Given the description of an element on the screen output the (x, y) to click on. 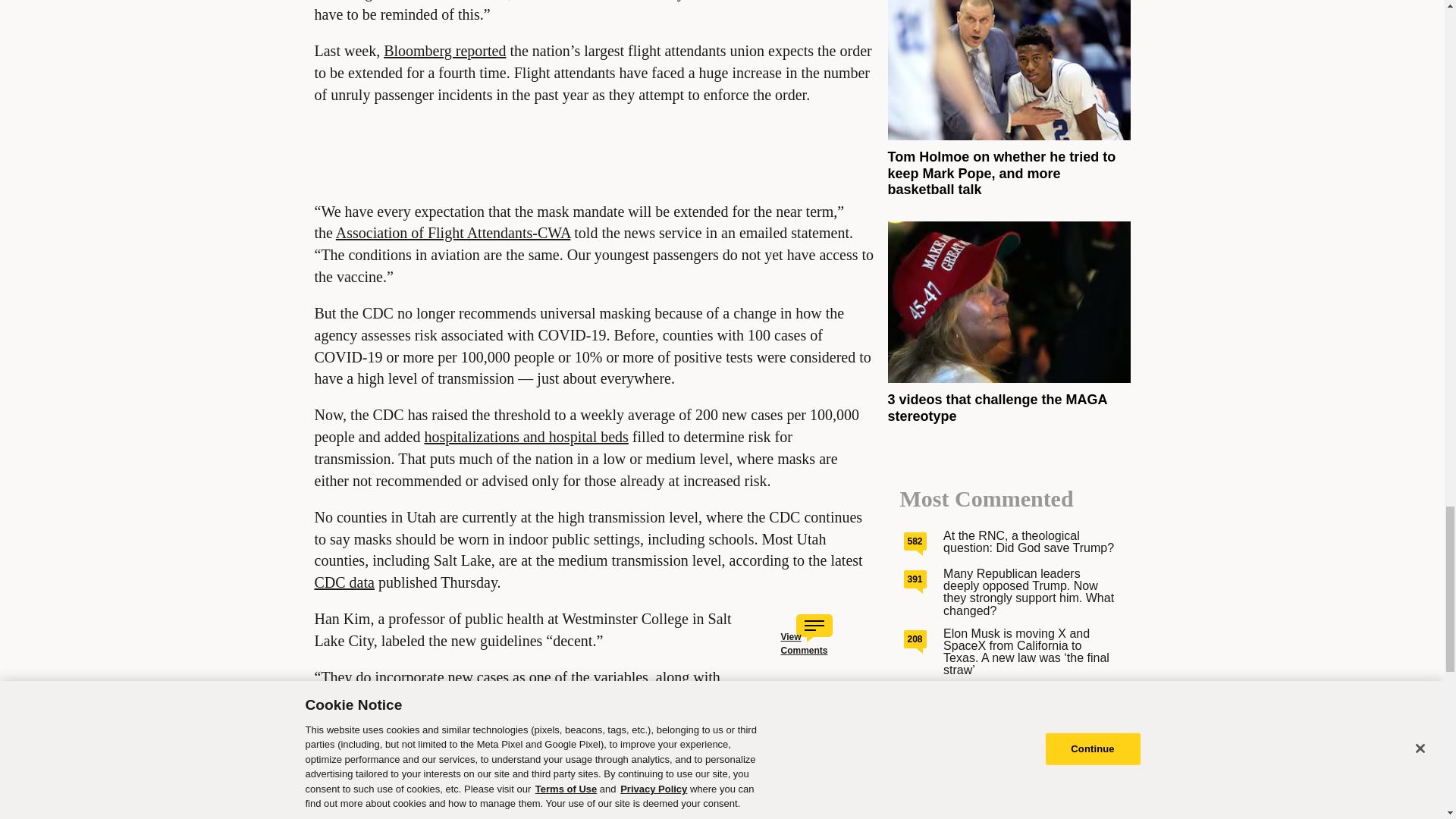
Association of Flight Attendants-CWA (453, 232)
Bloomberg reported (444, 50)
hospitalizations and hospital beds (525, 436)
CDC data (344, 582)
booster dose (761, 816)
